Given the description of an element on the screen output the (x, y) to click on. 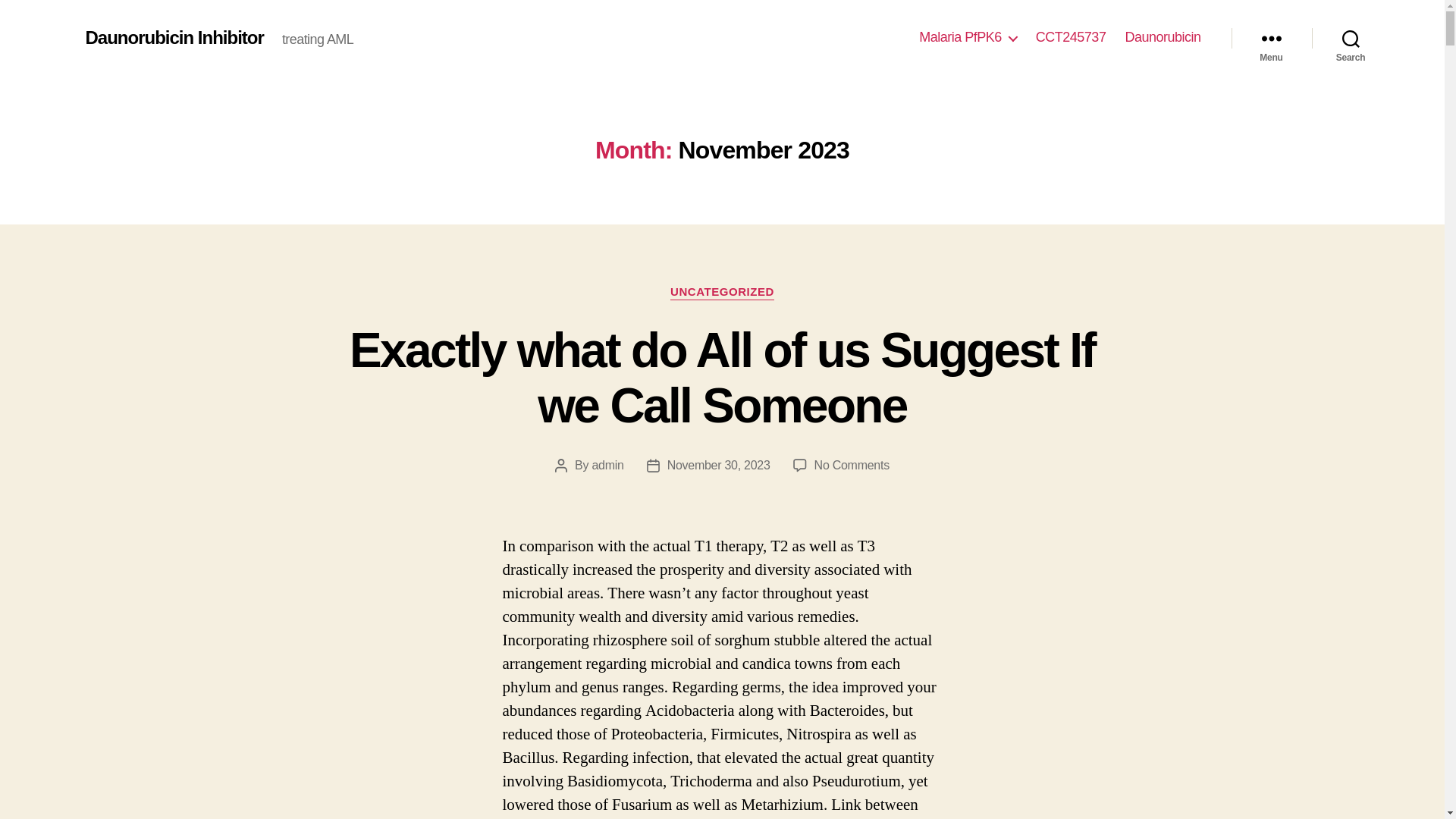
Daunorubicin (1161, 37)
Malaria PfPK6 (967, 37)
Menu (1271, 37)
Daunorubicin Inhibitor (173, 37)
CCT245737 (1070, 37)
Search (1350, 37)
UNCATEGORIZED (721, 292)
Exactly what do All of us Suggest If we Call Someone (721, 377)
